Given the description of an element on the screen output the (x, y) to click on. 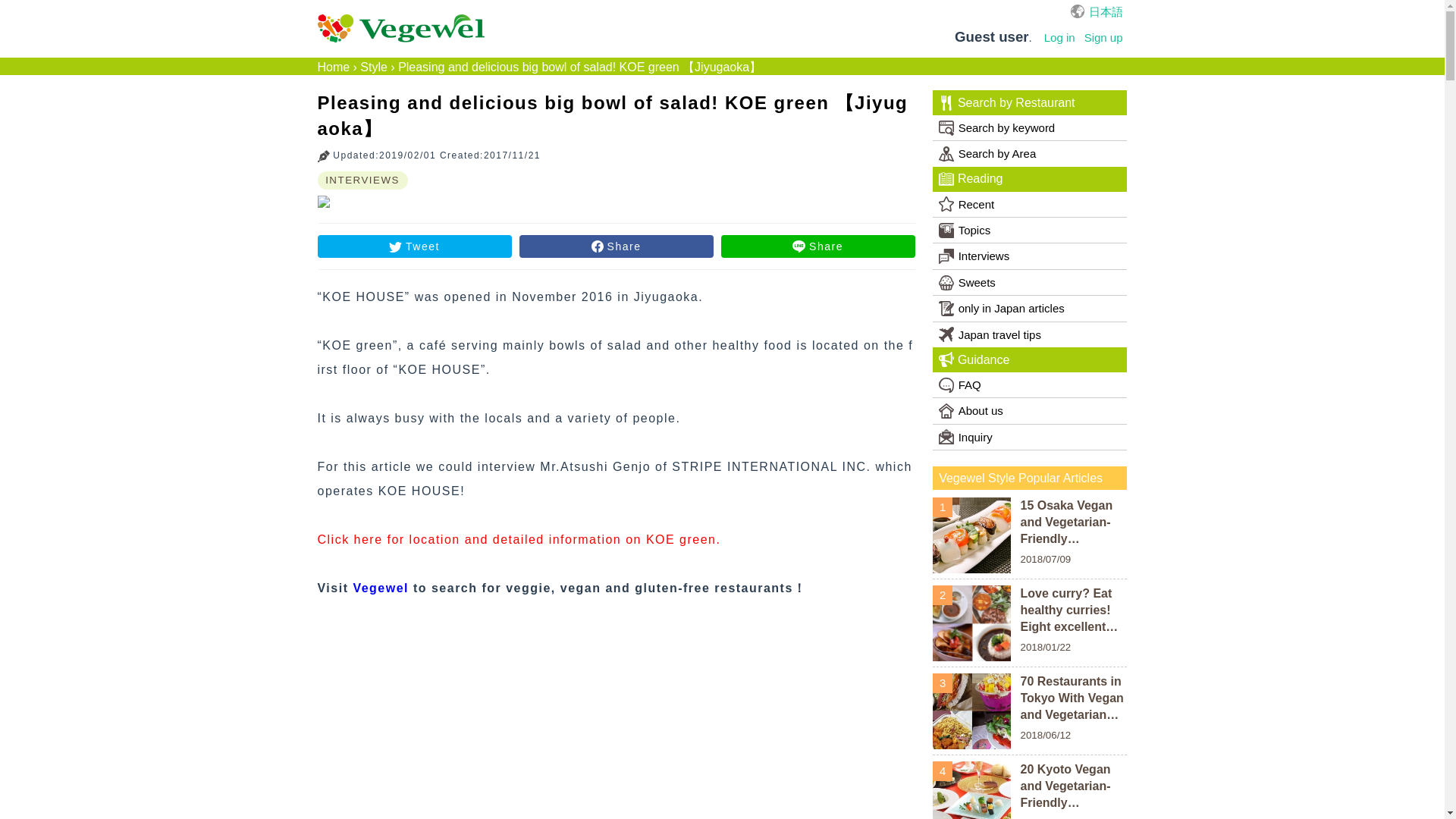
Share (817, 246)
INTERVIEWS (362, 180)
Sign up (1103, 37)
Style (373, 66)
Search by Area (1029, 153)
Tweet (414, 246)
Home (333, 66)
Search by keyword (1029, 127)
Log in (1059, 37)
Share (615, 246)
Vegewel (380, 587)
